Given the description of an element on the screen output the (x, y) to click on. 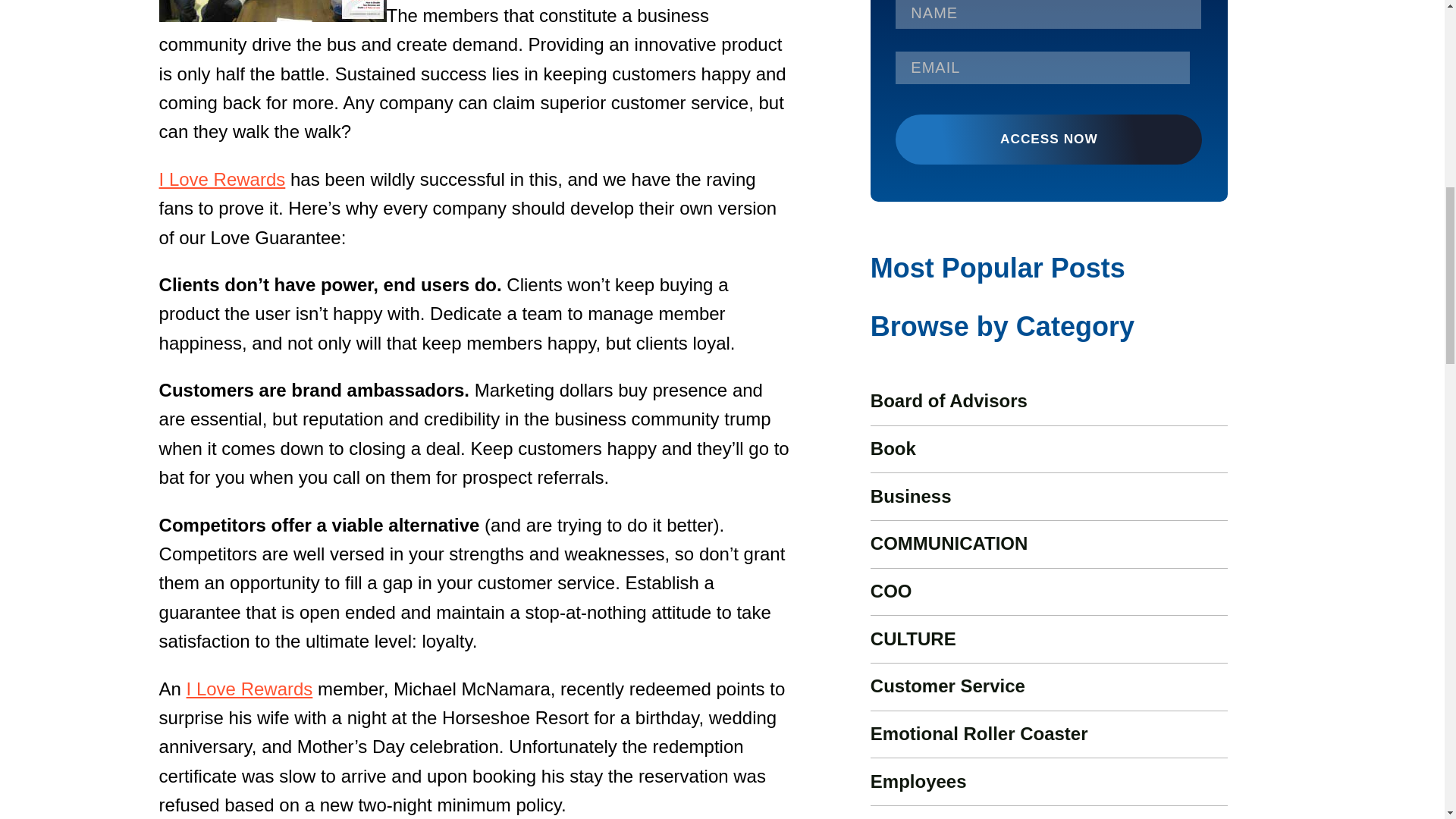
COMMUNICATION (948, 543)
I Love Rewards (221, 178)
I Love Rewards (221, 178)
Board of Advisors (948, 400)
CULTURE (913, 638)
Customer Service (947, 685)
I Love Rewards (249, 688)
I Love Rewards (249, 688)
Emotional Roller Coaster (978, 733)
Employees (918, 781)
ACCESS NOW (1048, 139)
Book (892, 448)
ACCESS NOW (1048, 139)
COO (891, 590)
